Given the description of an element on the screen output the (x, y) to click on. 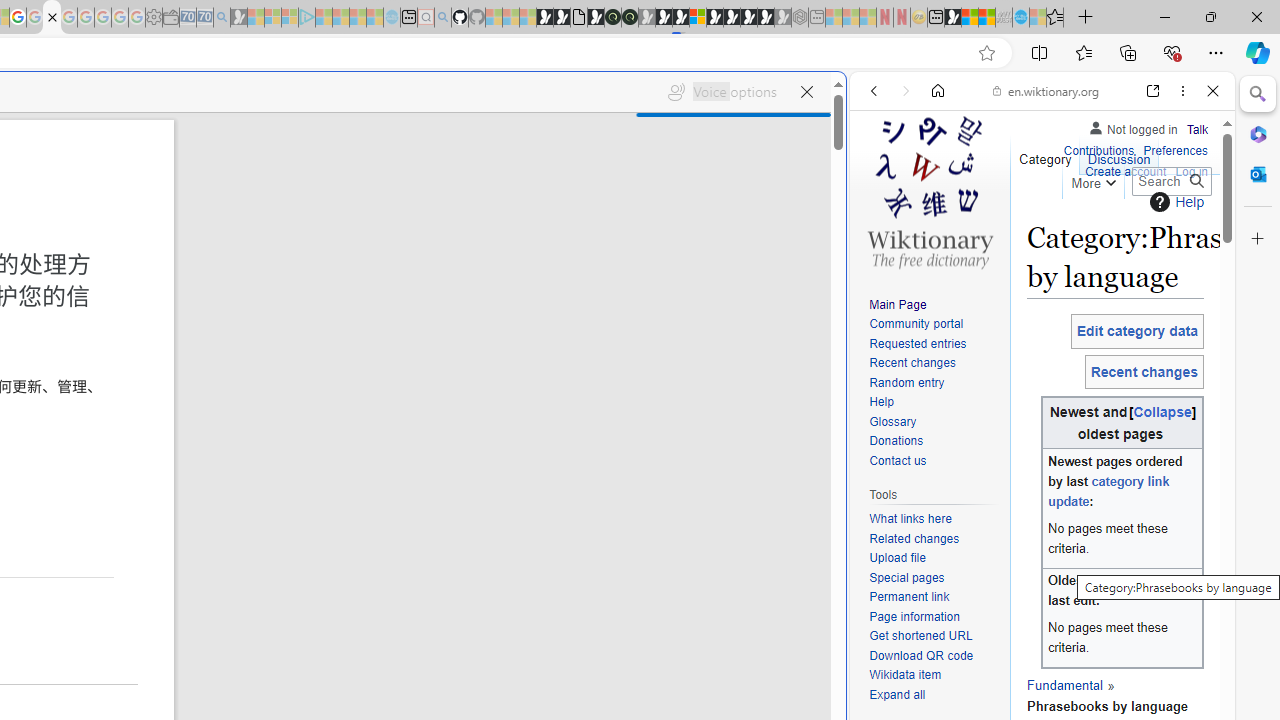
Create account (1125, 169)
Log in (1191, 169)
Wikidata item (905, 675)
Not logged in (1132, 126)
Related changes (934, 539)
